Given the description of an element on the screen output the (x, y) to click on. 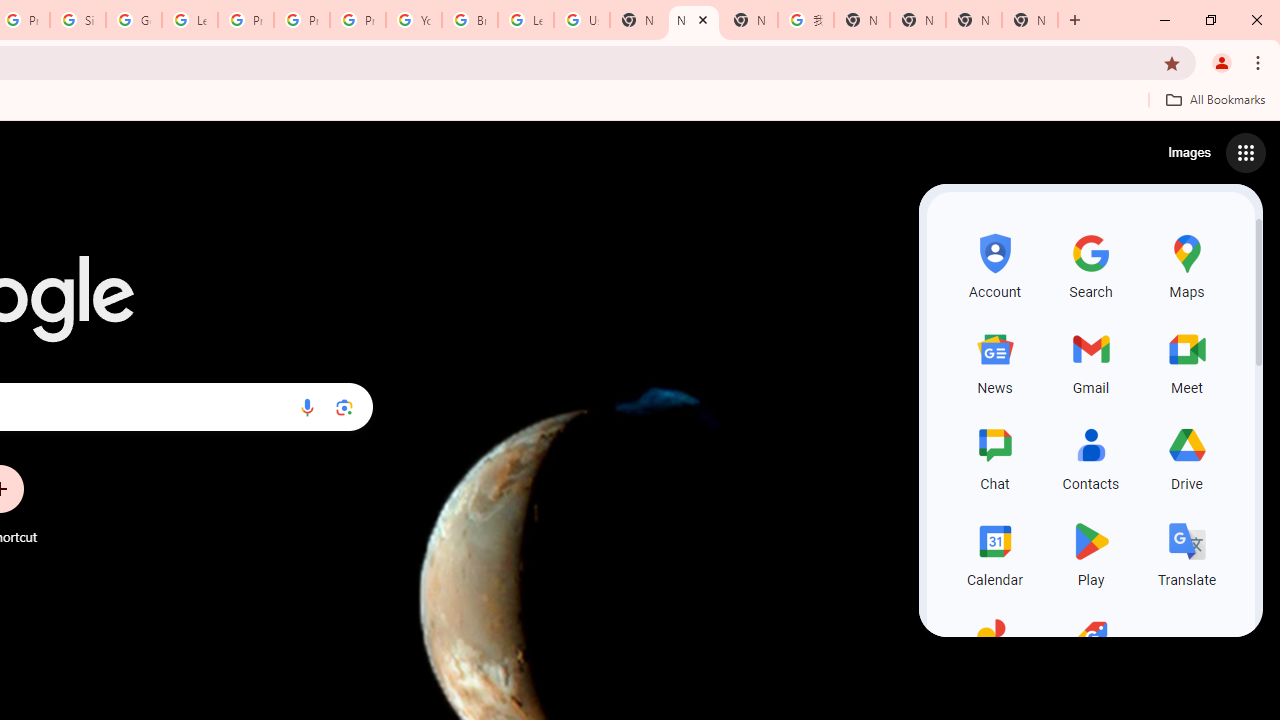
Search, row 1 of 5 and column 2 of 3 in the first section (1090, 263)
Gmail, row 2 of 5 and column 2 of 3 in the first section (1090, 359)
Drive, row 3 of 5 and column 3 of 3 in the first section (1186, 455)
